Given the description of an element on the screen output the (x, y) to click on. 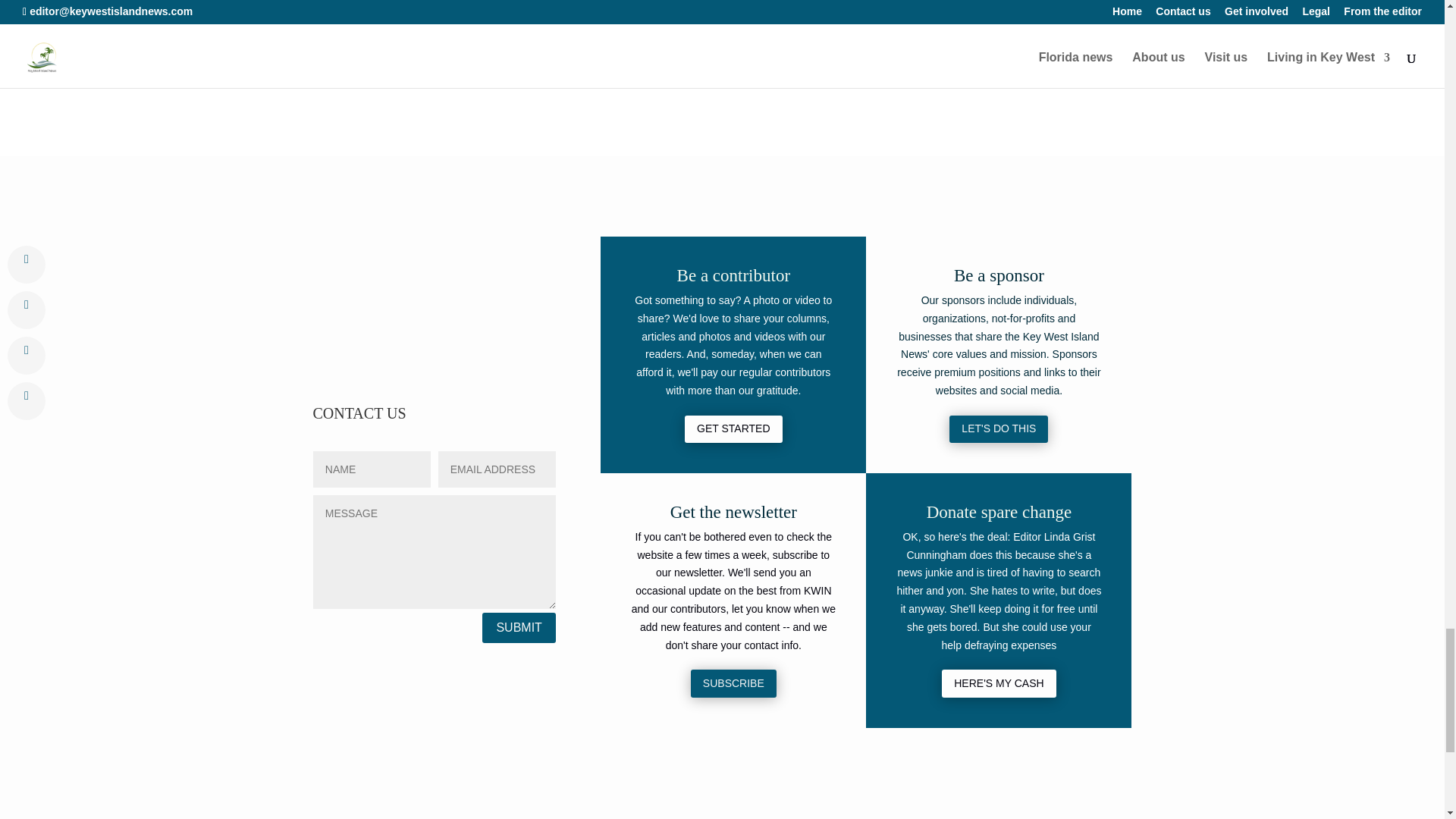
cropped-2019-Logo-DRK-BLU-Text-Transparent-1-300x300-1 (433, 310)
